Given the description of an element on the screen output the (x, y) to click on. 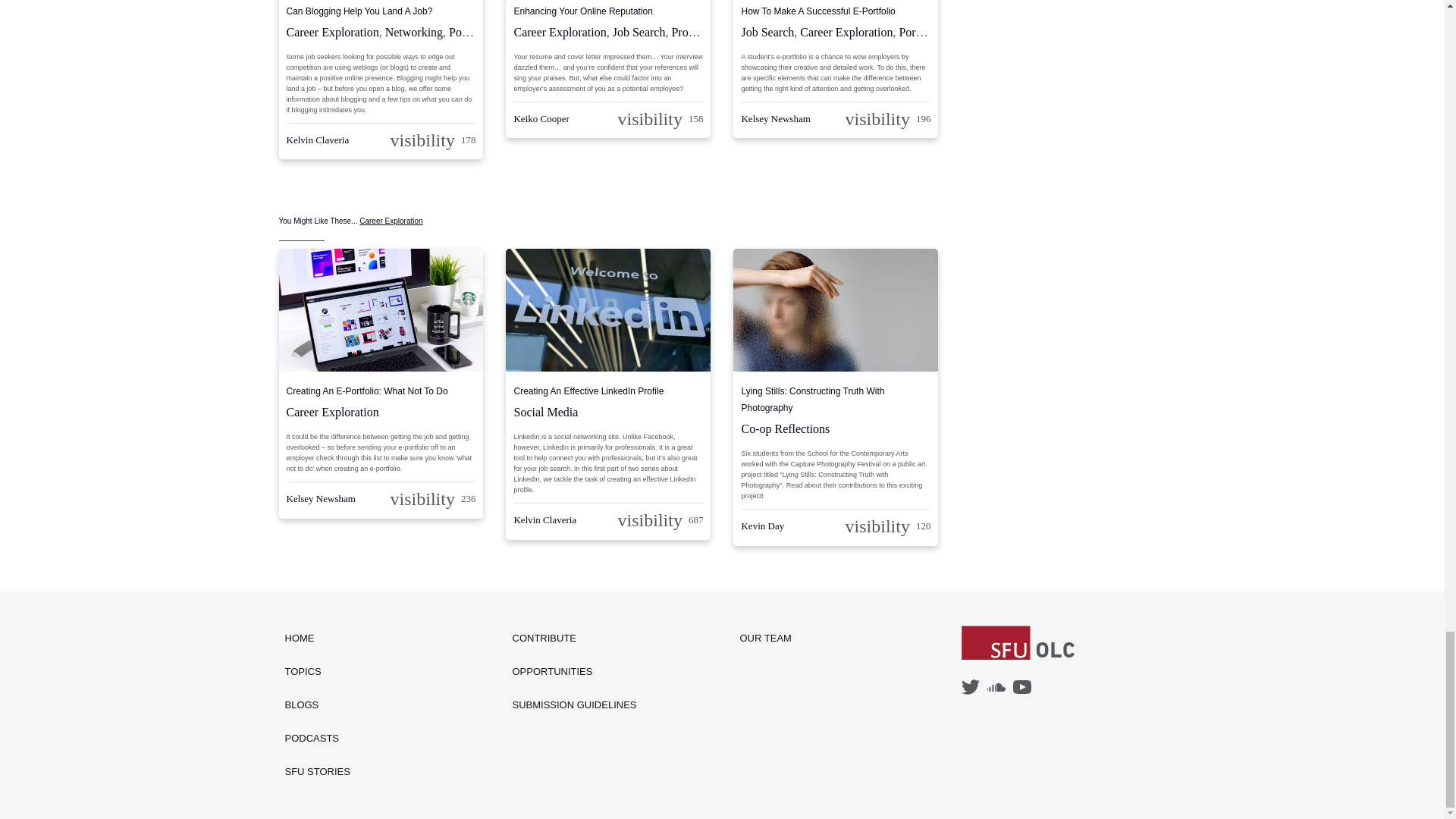
OLC Blogs (317, 704)
Contribute to the OLC (574, 638)
